Given the description of an element on the screen output the (x, y) to click on. 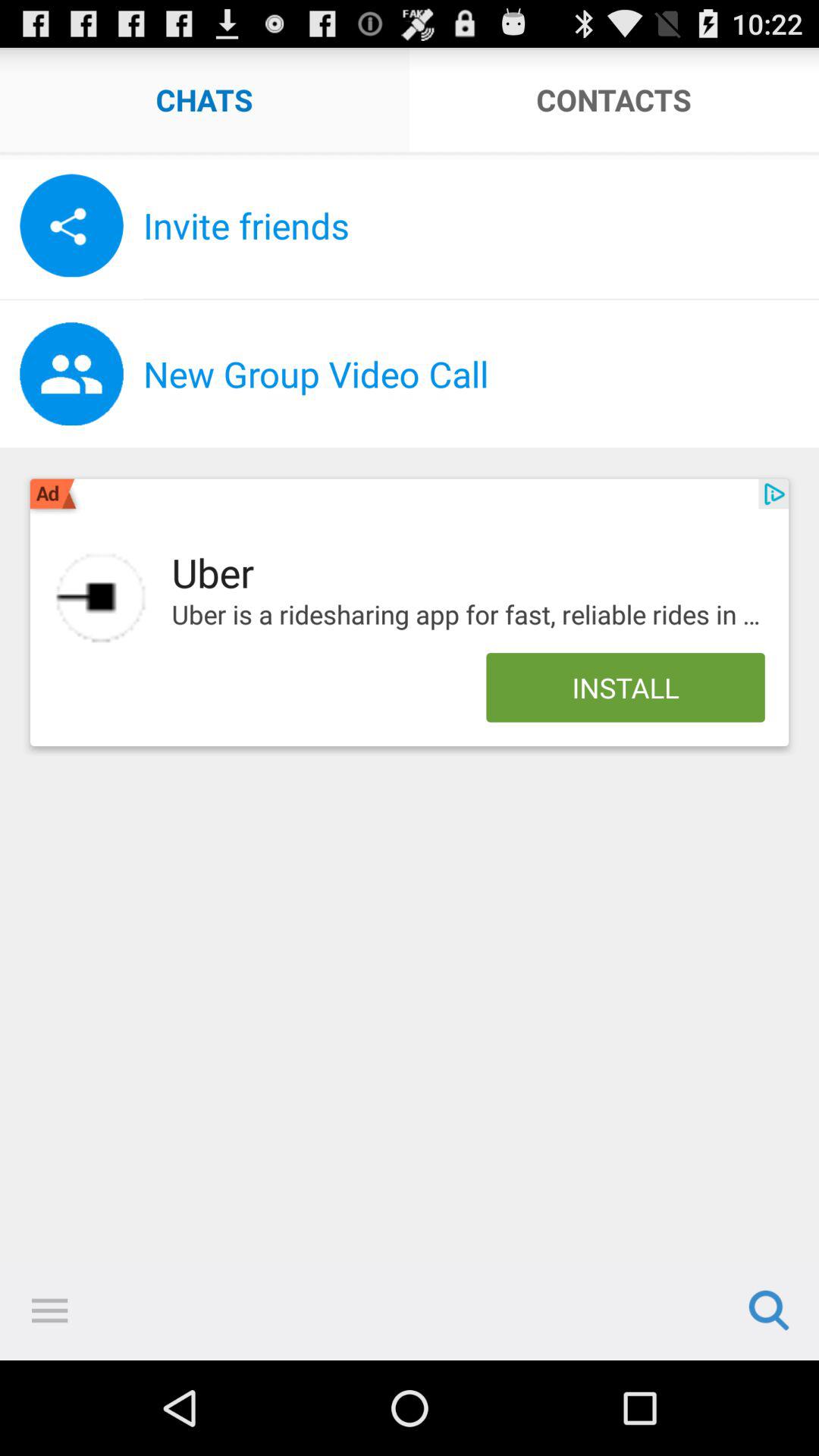
jump until uber is a app (467, 615)
